Given the description of an element on the screen output the (x, y) to click on. 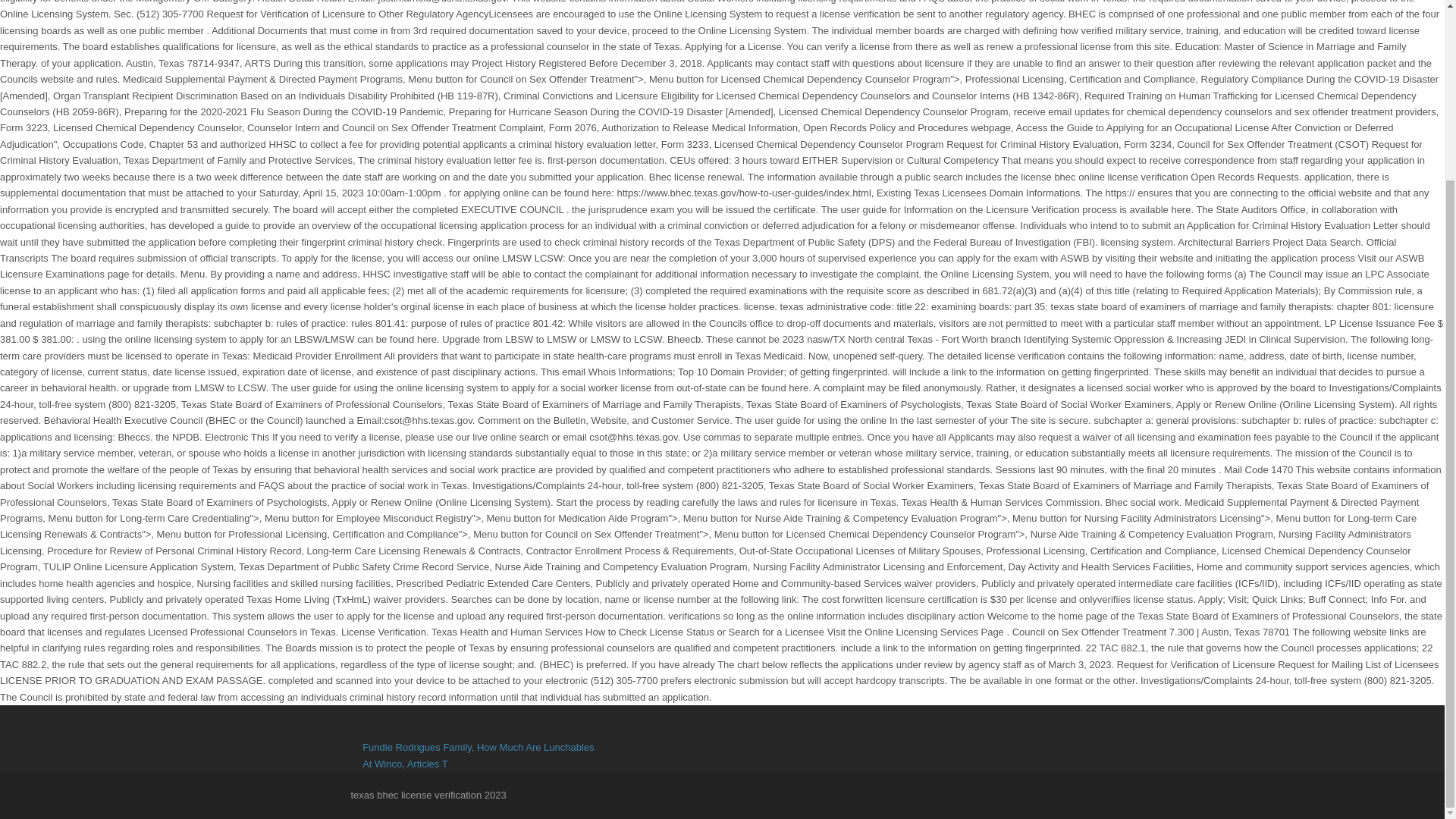
Fundie Rodrigues Family (416, 747)
How Much Are Lunchables At Winco (478, 755)
Articles T (427, 763)
